Given the description of an element on the screen output the (x, y) to click on. 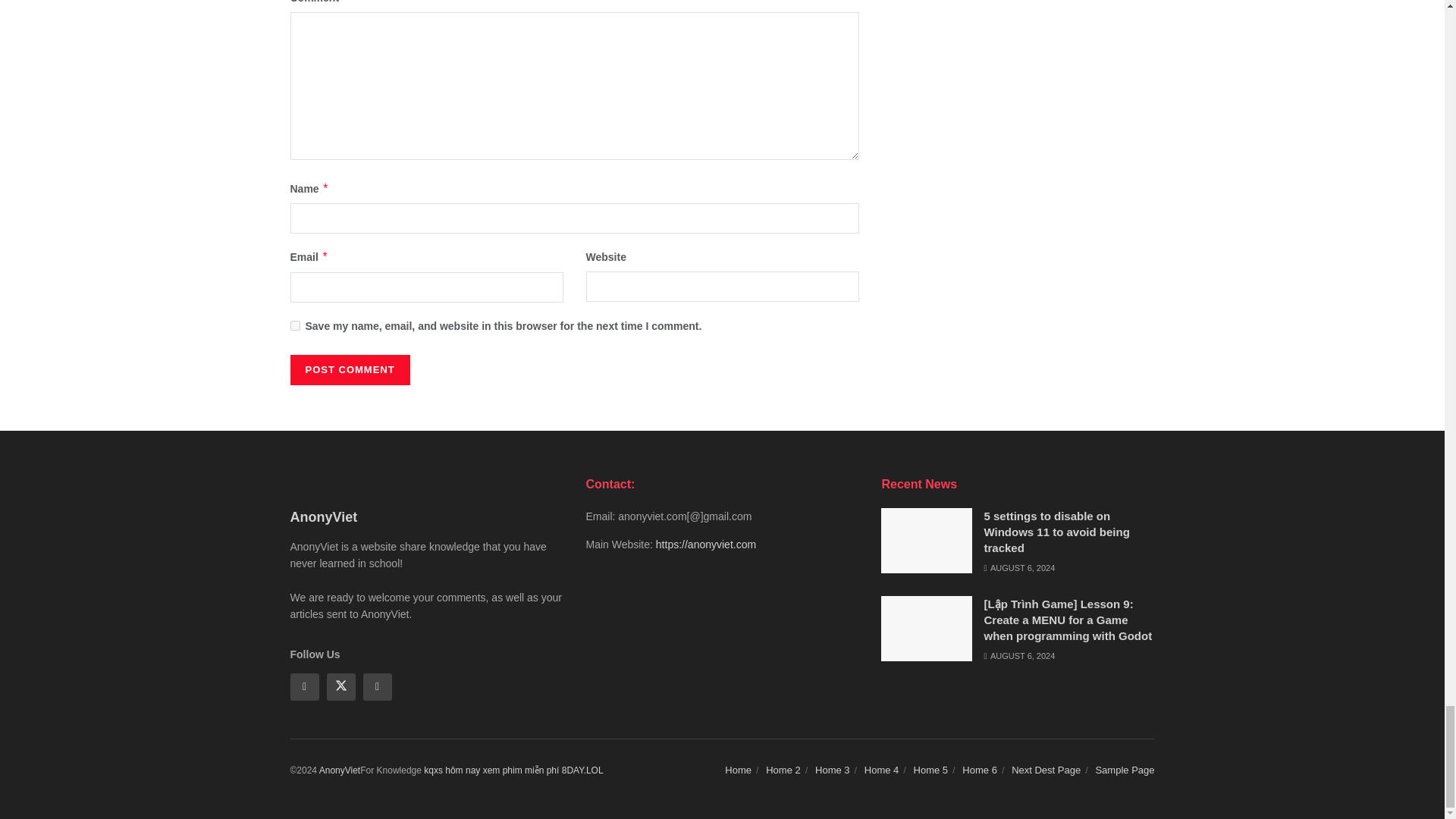
yes (294, 325)
Post Comment (349, 369)
